Given the description of an element on the screen output the (x, y) to click on. 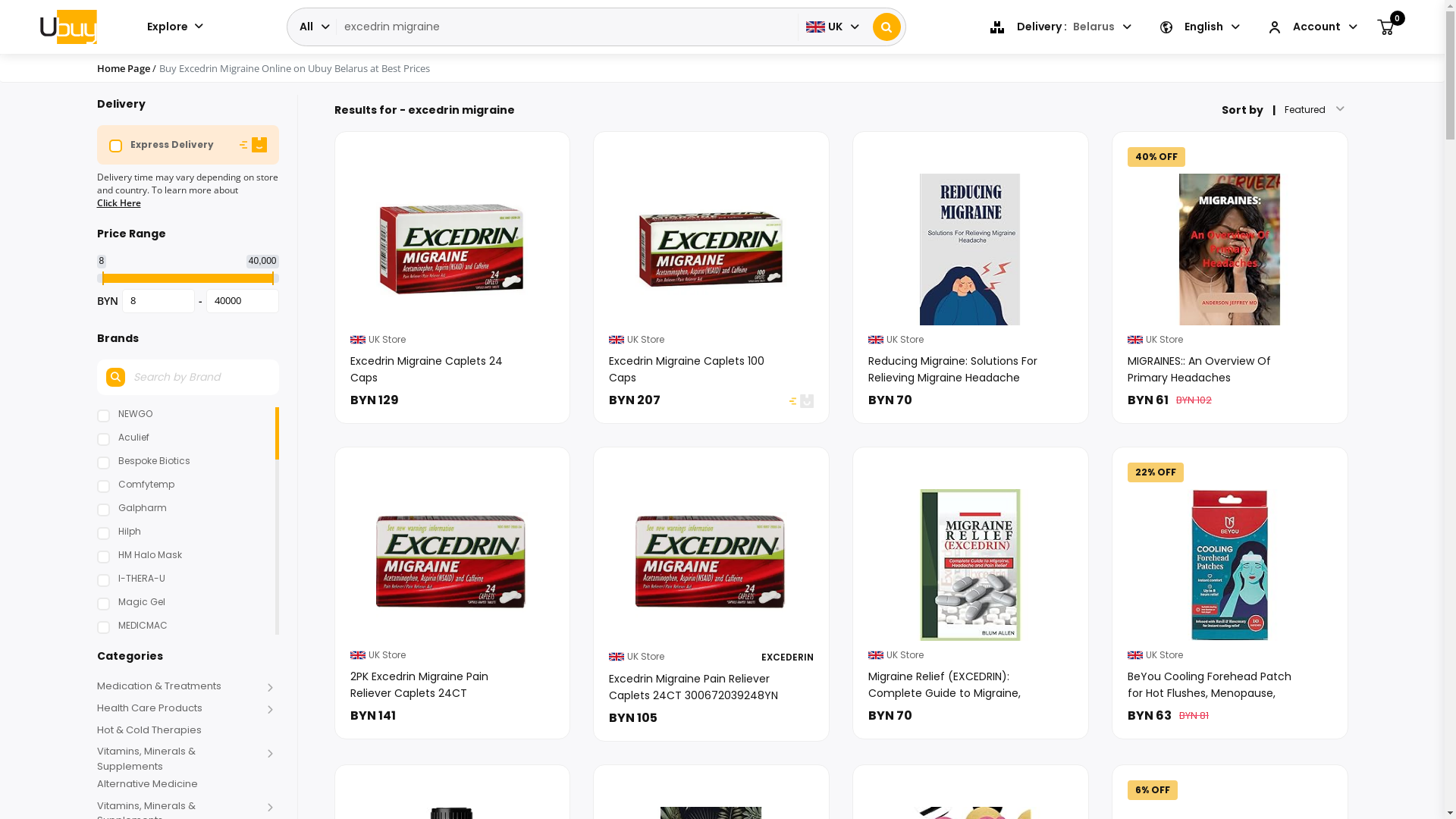
All Element type: text (313, 26)
UK Store Element type: hover (357, 655)
UK Store Element type: hover (616, 655)
Featured Element type: text (1309, 109)
UK Store Element type: hover (875, 339)
UK Store
Excedrin Migraine Caplets 24 Caps
BYN 129 Element type: text (452, 276)
UK Store Element type: hover (875, 655)
UK Store Element type: hover (1134, 655)
UK Store Element type: hover (357, 339)
Health Care Products Element type: text (178, 707)
Ubuy Element type: hover (67, 26)
Medication & Treatments Element type: text (178, 685)
Hot & Cold Therapies Element type: text (178, 729)
Home Page Element type: text (123, 68)
Vitamins, Minerals & Supplements Element type: text (178, 758)
Alternative Medicine Element type: text (178, 783)
UK Store
Excedrin Migraine Caplets 100 Caps
BYN 207 Element type: text (710, 276)
UK Store Element type: hover (1134, 339)
0 Element type: text (1385, 26)
UK Store Element type: hover (616, 339)
UK Element type: text (830, 26)
Click Here Element type: text (119, 202)
